Given the description of an element on the screen output the (x, y) to click on. 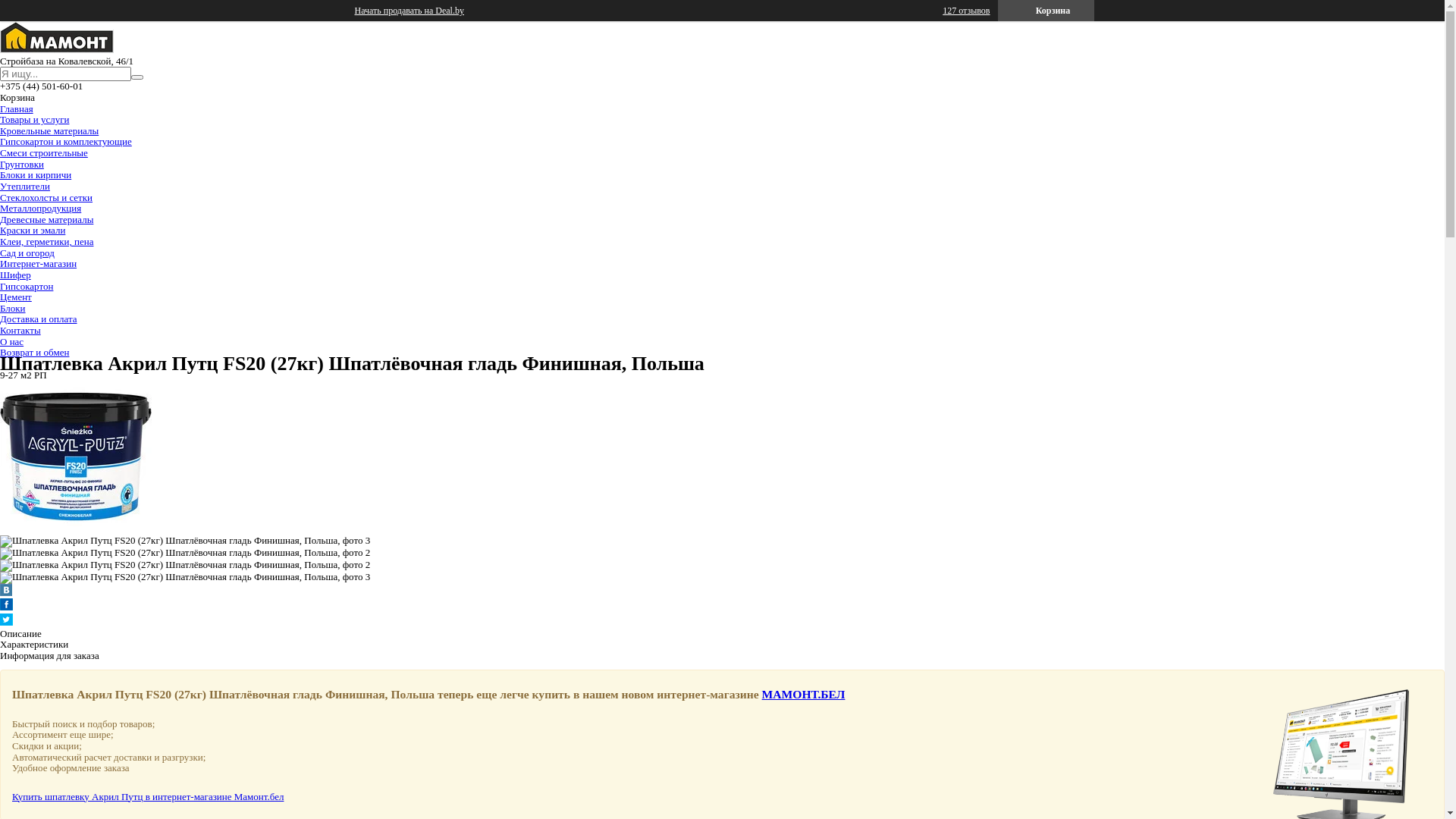
facebook Element type: hover (6, 606)
twitter Element type: hover (6, 621)
